Given the description of an element on the screen output the (x, y) to click on. 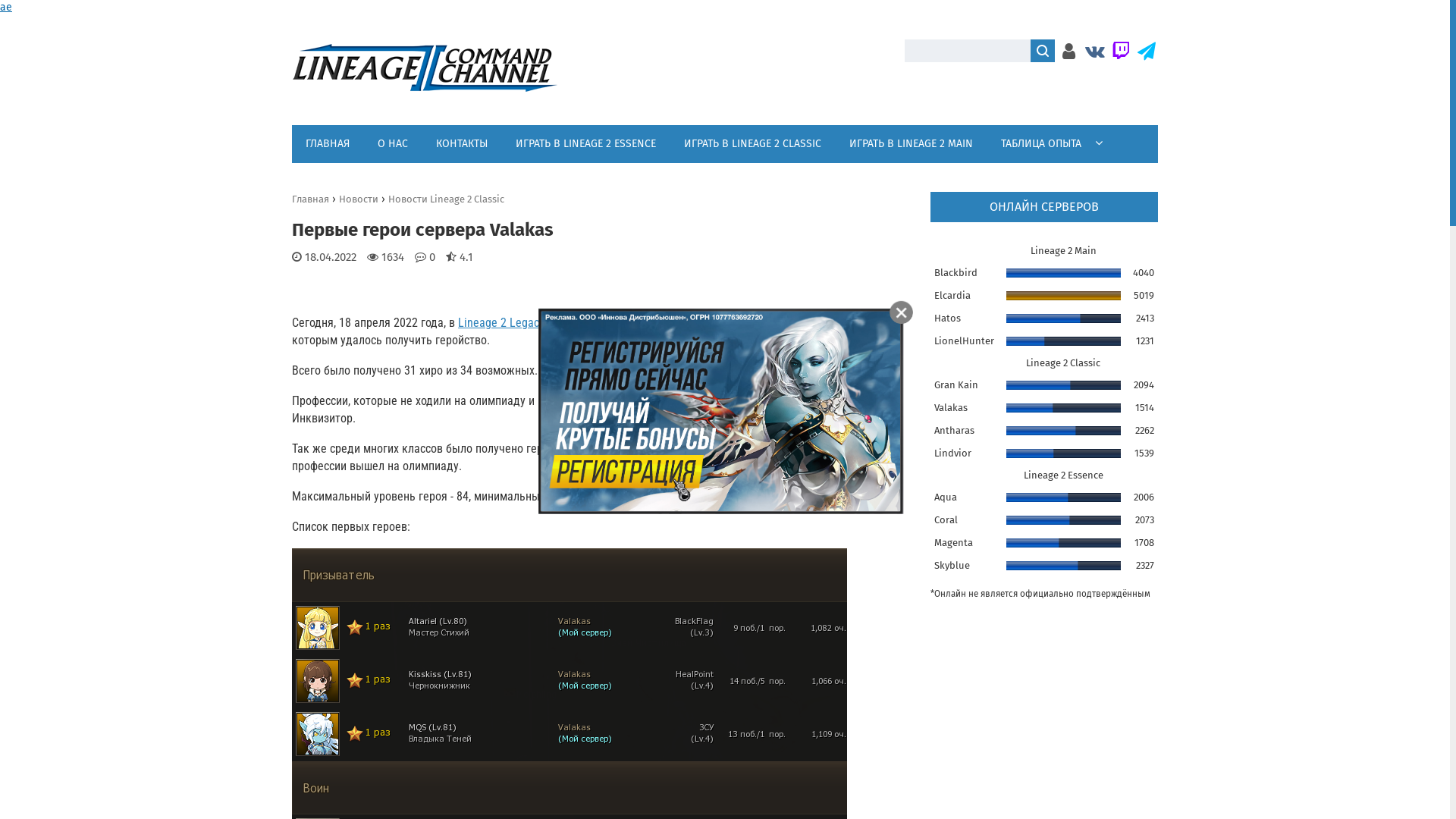
Lineage 2 Legacy (Classic) Element type: text (523, 328)
